Given the description of an element on the screen output the (x, y) to click on. 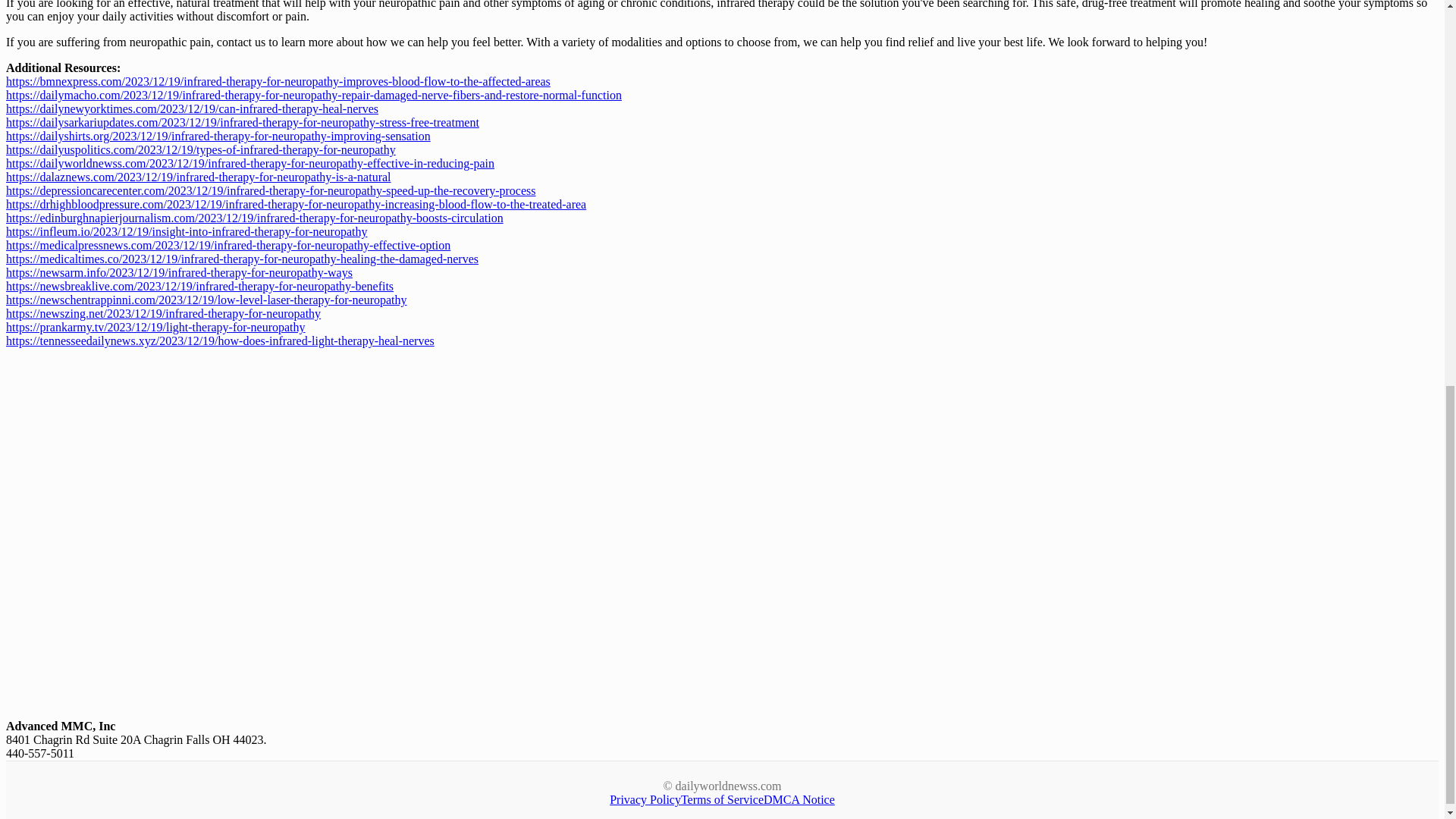
DMCA Notice (798, 799)
Privacy Policy (645, 799)
Terms of Service (721, 799)
